Given the description of an element on the screen output the (x, y) to click on. 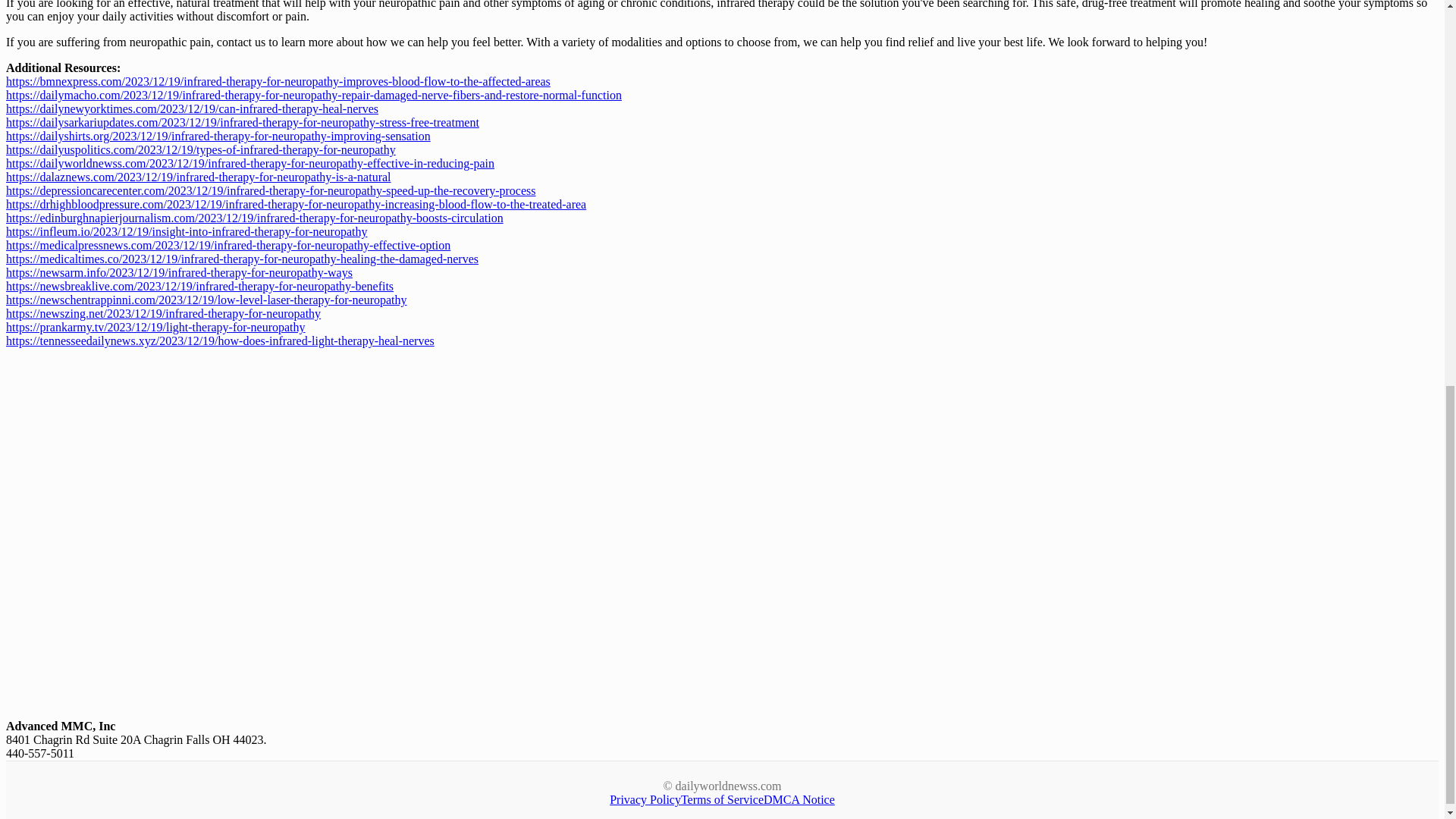
DMCA Notice (798, 799)
Privacy Policy (645, 799)
Terms of Service (721, 799)
